Given the description of an element on the screen output the (x, y) to click on. 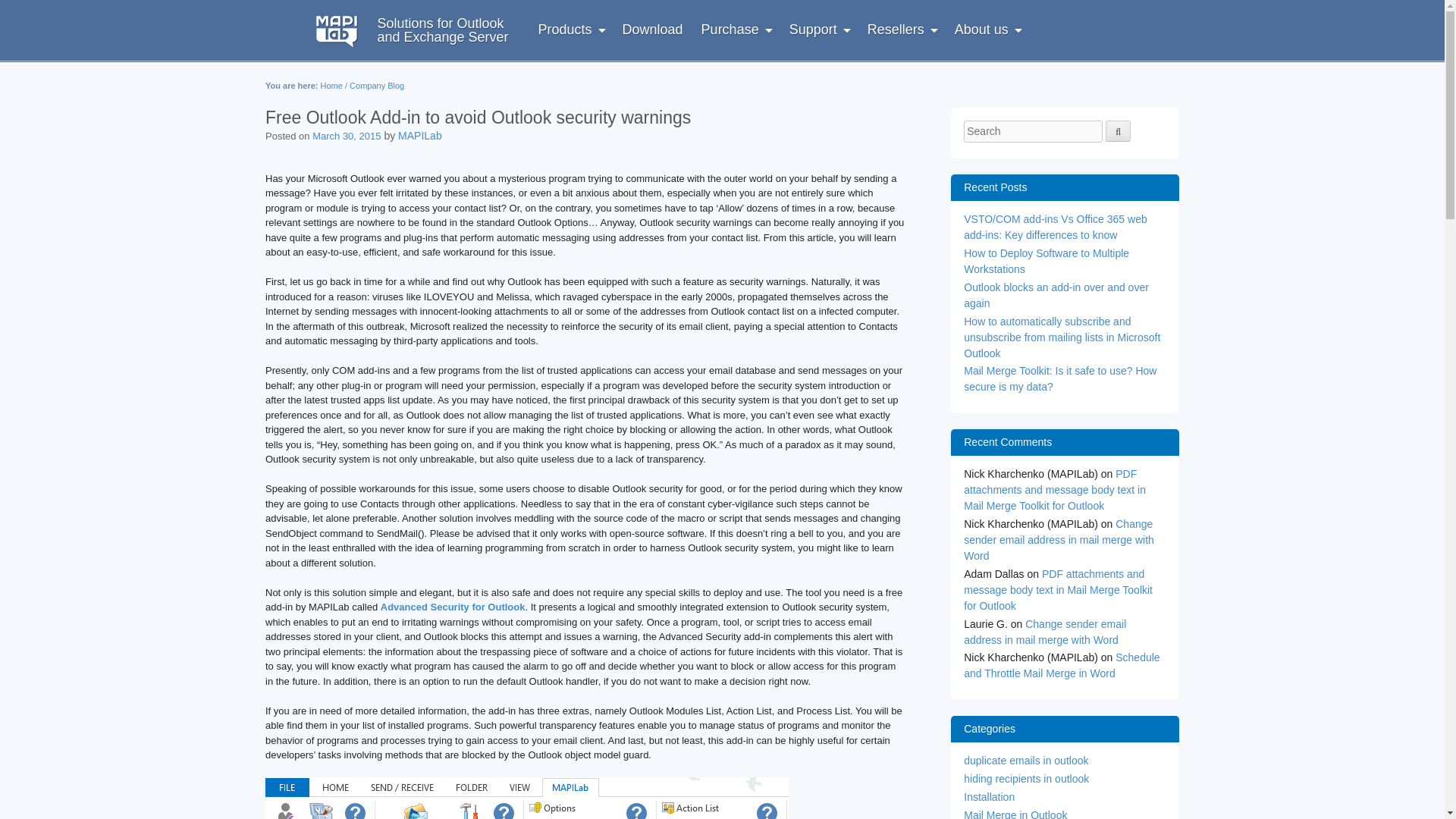
Resellers (901, 29)
Download (652, 29)
Purchase (736, 29)
Search for: (1032, 131)
Products (415, 30)
Support (570, 29)
About us (819, 29)
